Given the description of an element on the screen output the (x, y) to click on. 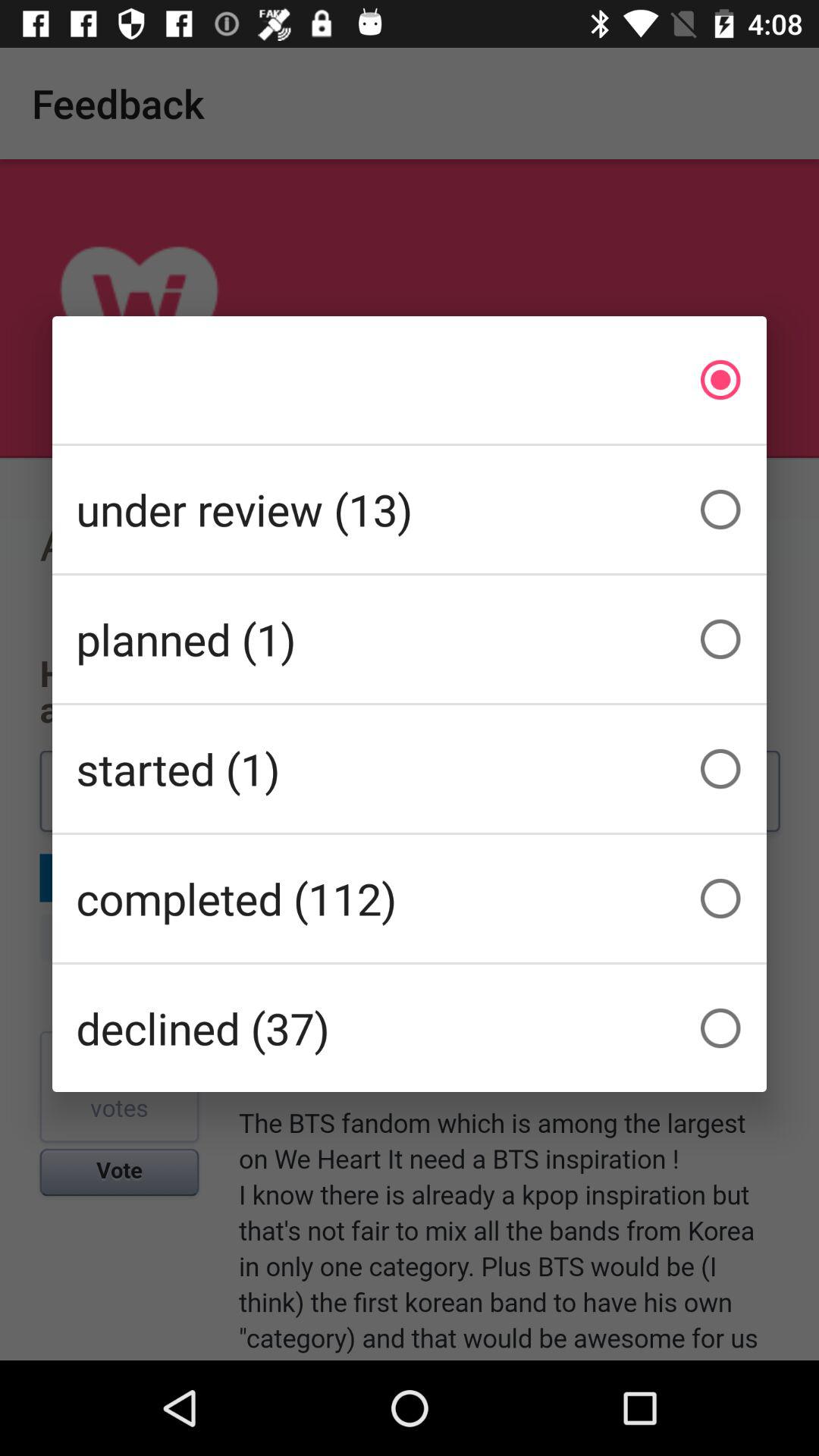
launch the icon below the completed (112) item (409, 1028)
